Given the description of an element on the screen output the (x, y) to click on. 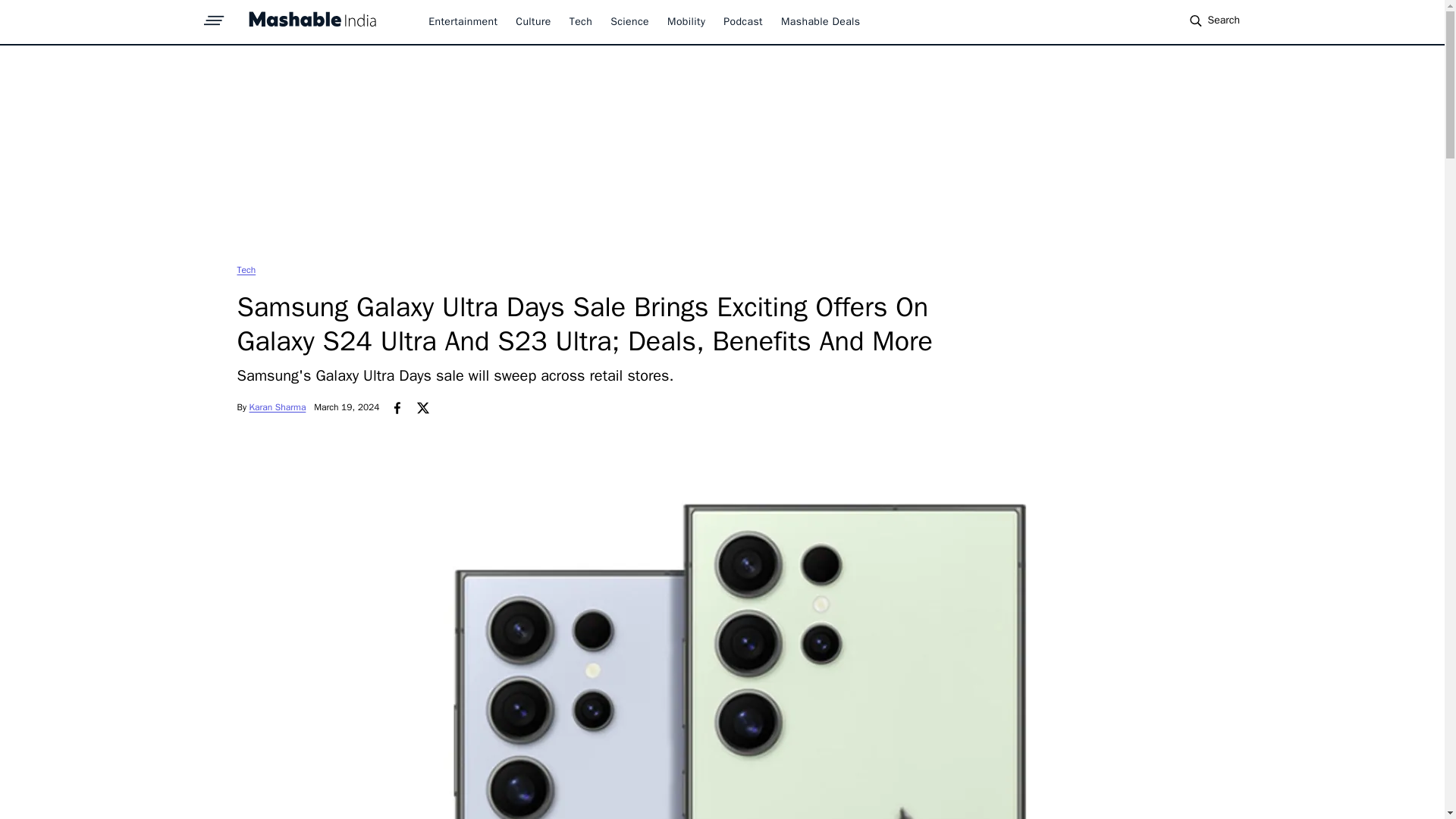
Mashable Deals (820, 21)
Mobility (685, 21)
Culture (532, 21)
Karan Sharma (276, 407)
Science (629, 21)
sprite-hamburger (213, 16)
Tech (580, 21)
Tech (245, 269)
Entertainment (462, 21)
Podcast (742, 21)
Tech (245, 269)
